Given the description of an element on the screen output the (x, y) to click on. 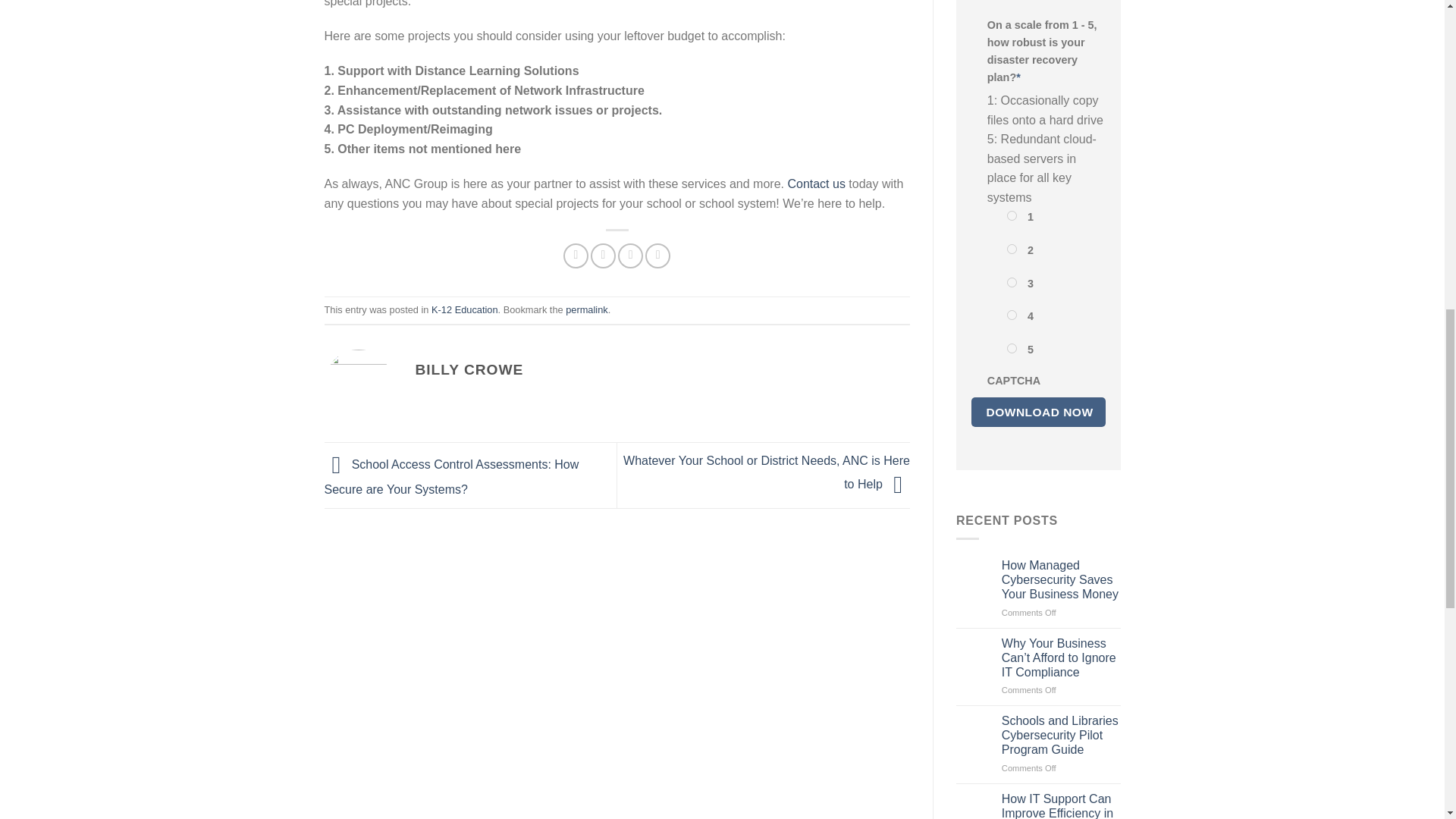
How IT Support Can Improve Efficiency in Law Firms (1061, 805)
5 (1011, 347)
Share on Twitter (603, 255)
4 (1011, 315)
Download Now (1038, 411)
Schools and Libraries Cybersecurity Pilot Program Guide (1061, 735)
2 (1011, 248)
How Managed Cybersecurity Saves Your Business Money (1061, 579)
Share on LinkedIn (657, 255)
